Given the description of an element on the screen output the (x, y) to click on. 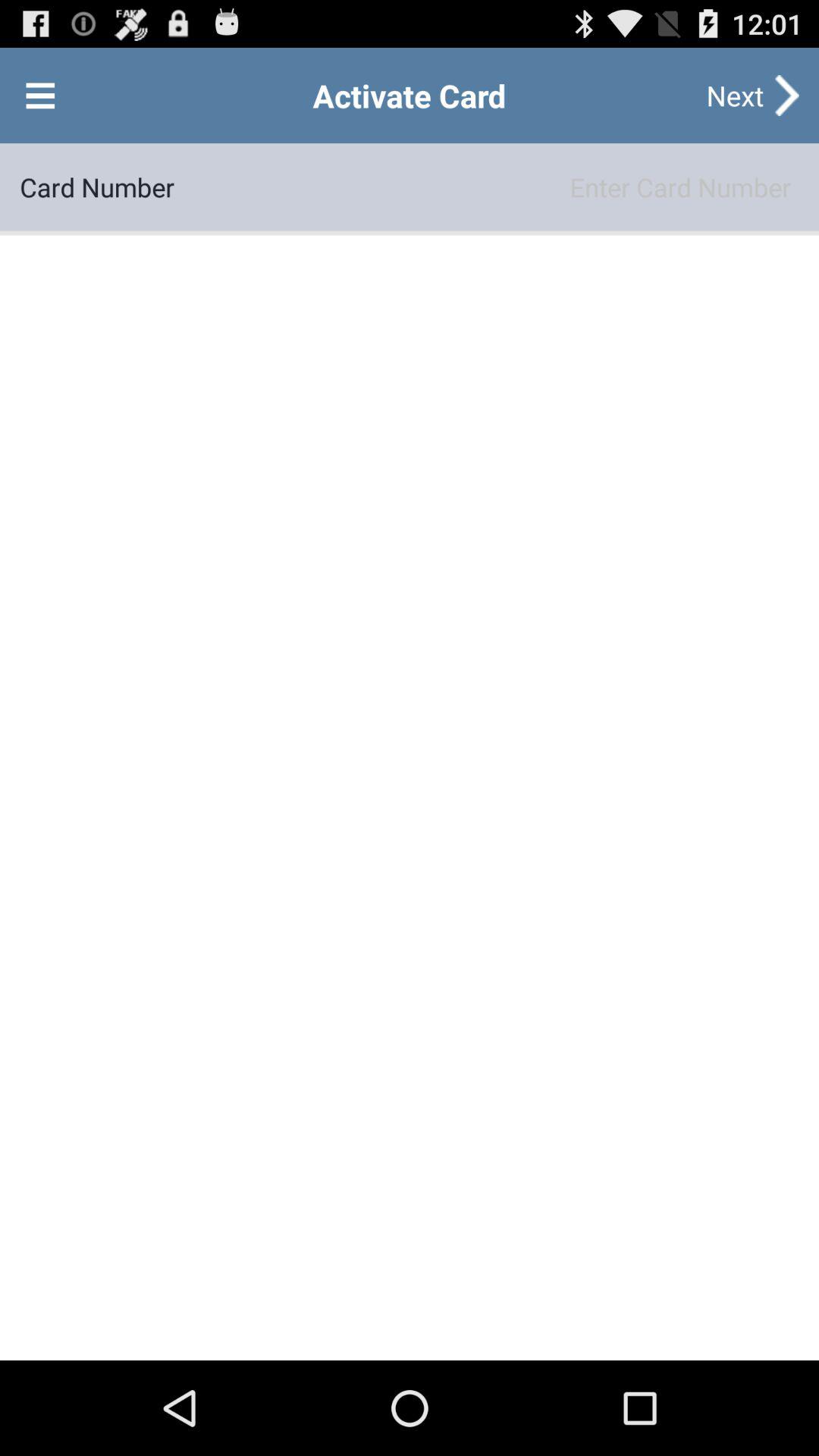
enter card number (486, 186)
